Given the description of an element on the screen output the (x, y) to click on. 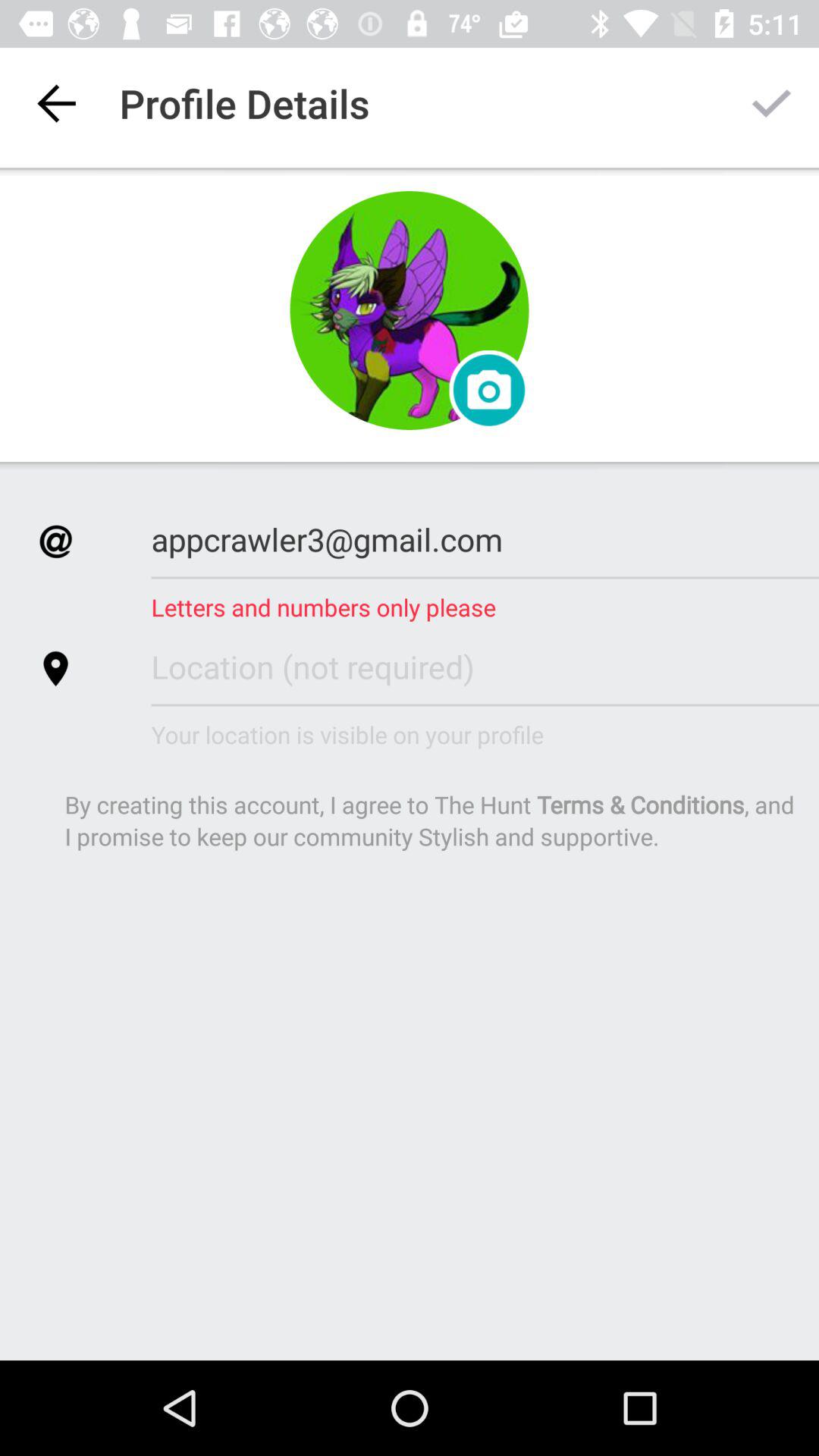
go to previous (55, 103)
